Given the description of an element on the screen output the (x, y) to click on. 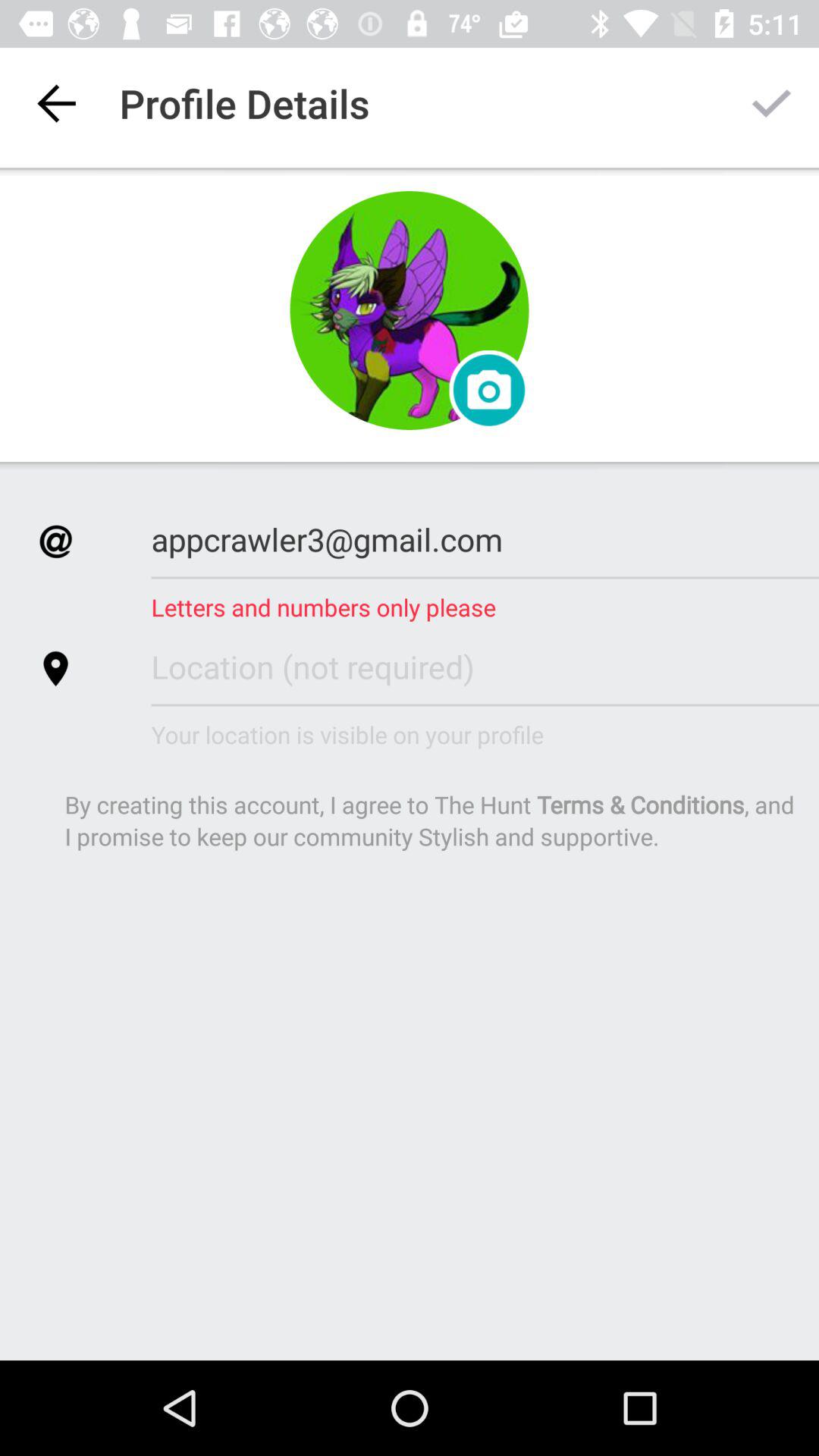
go to previous (55, 103)
